Given the description of an element on the screen output the (x, y) to click on. 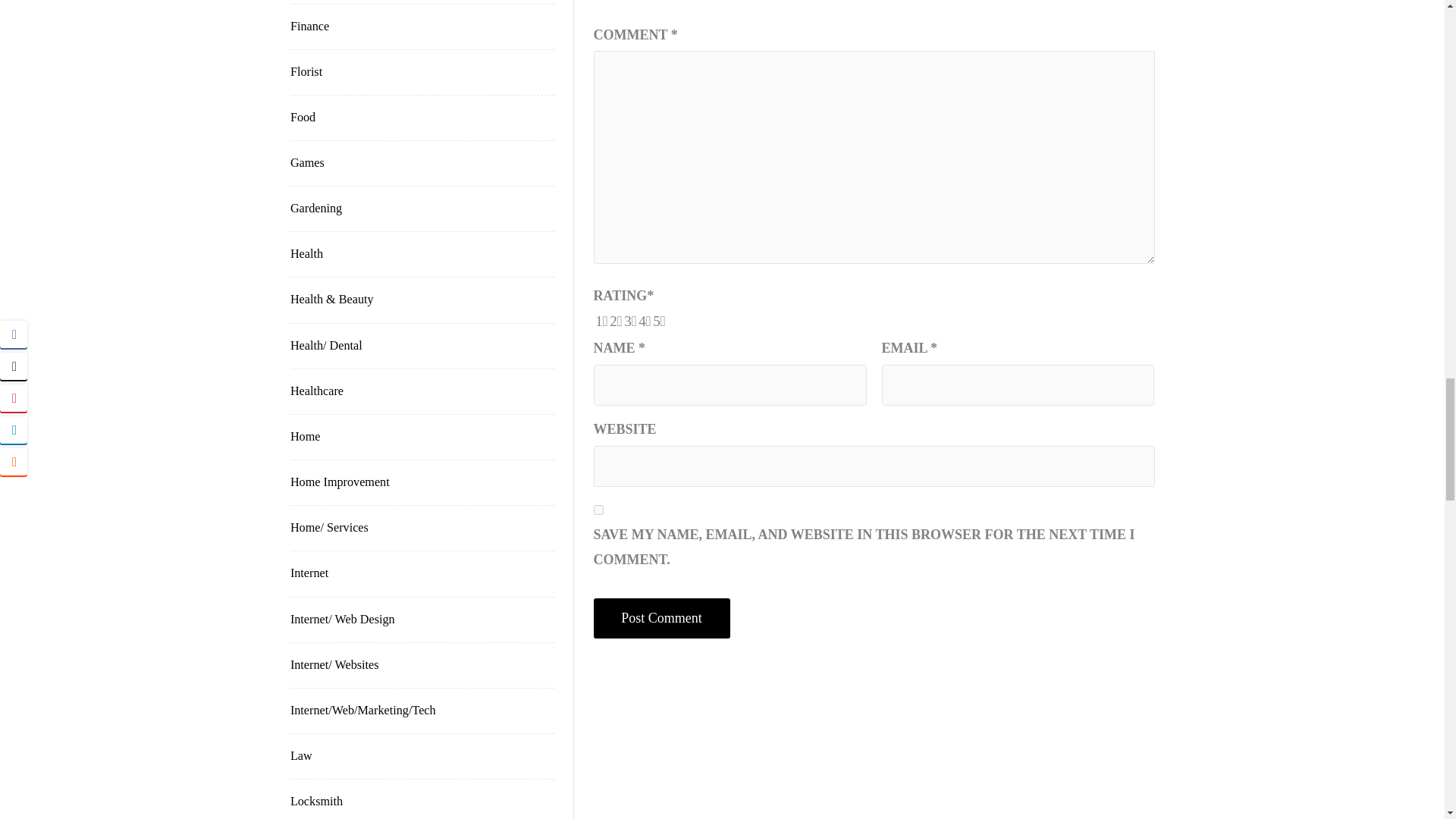
yes (599, 510)
Post Comment (662, 618)
